Given the description of an element on the screen output the (x, y) to click on. 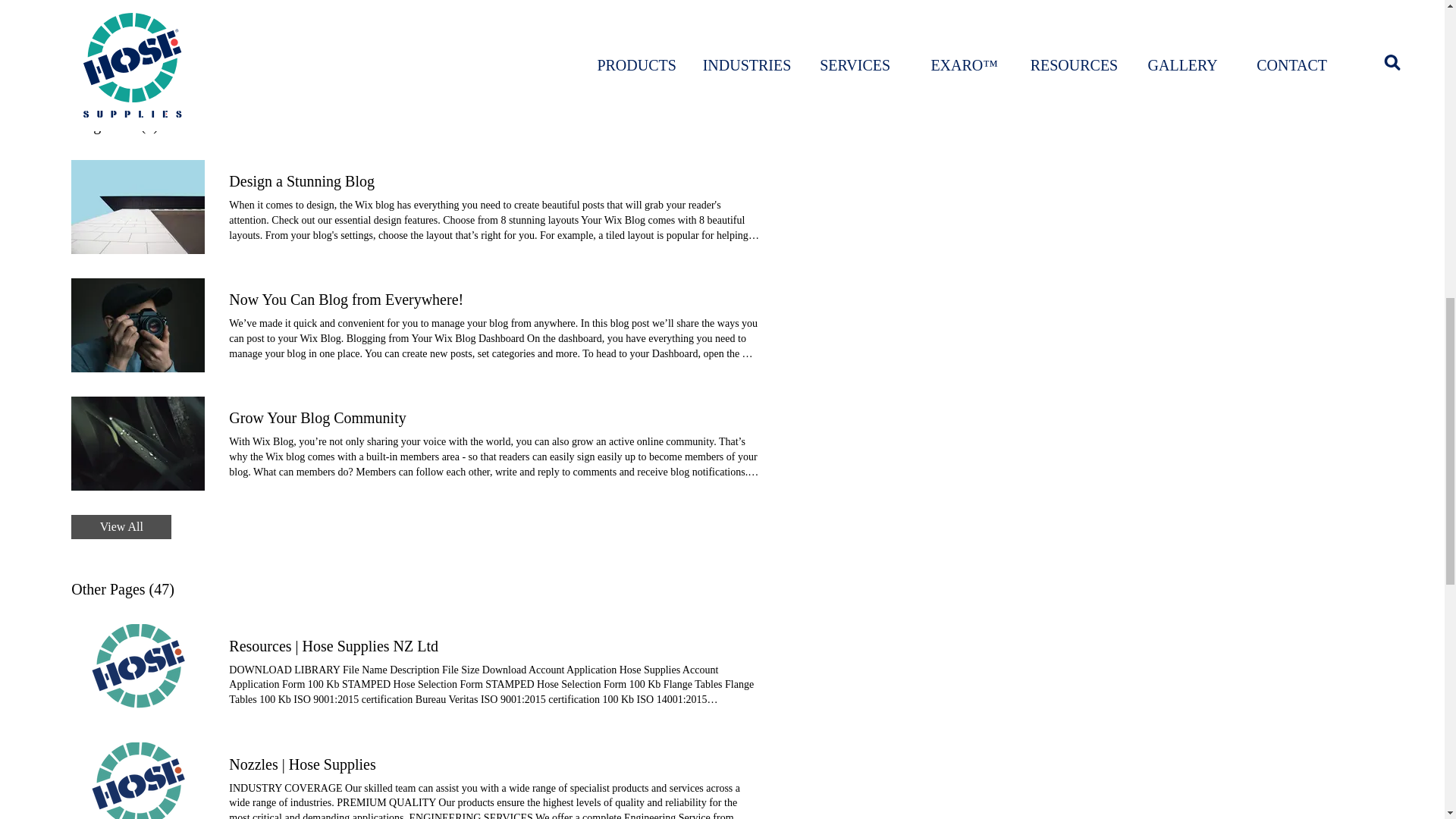
Add to Cart (531, 4)
Add to Cart (153, 13)
Now You Can Blog from Everywhere! (494, 299)
View All (121, 61)
Now You Can Blog from Everywhere! (494, 299)
Grow Your Blog Community (138, 443)
Now You Can Blog from Everywhere! (138, 325)
Design a Stunning Blog (138, 206)
Grow Your Blog Community (494, 417)
Design a Stunning Blog (494, 180)
